Given the description of an element on the screen output the (x, y) to click on. 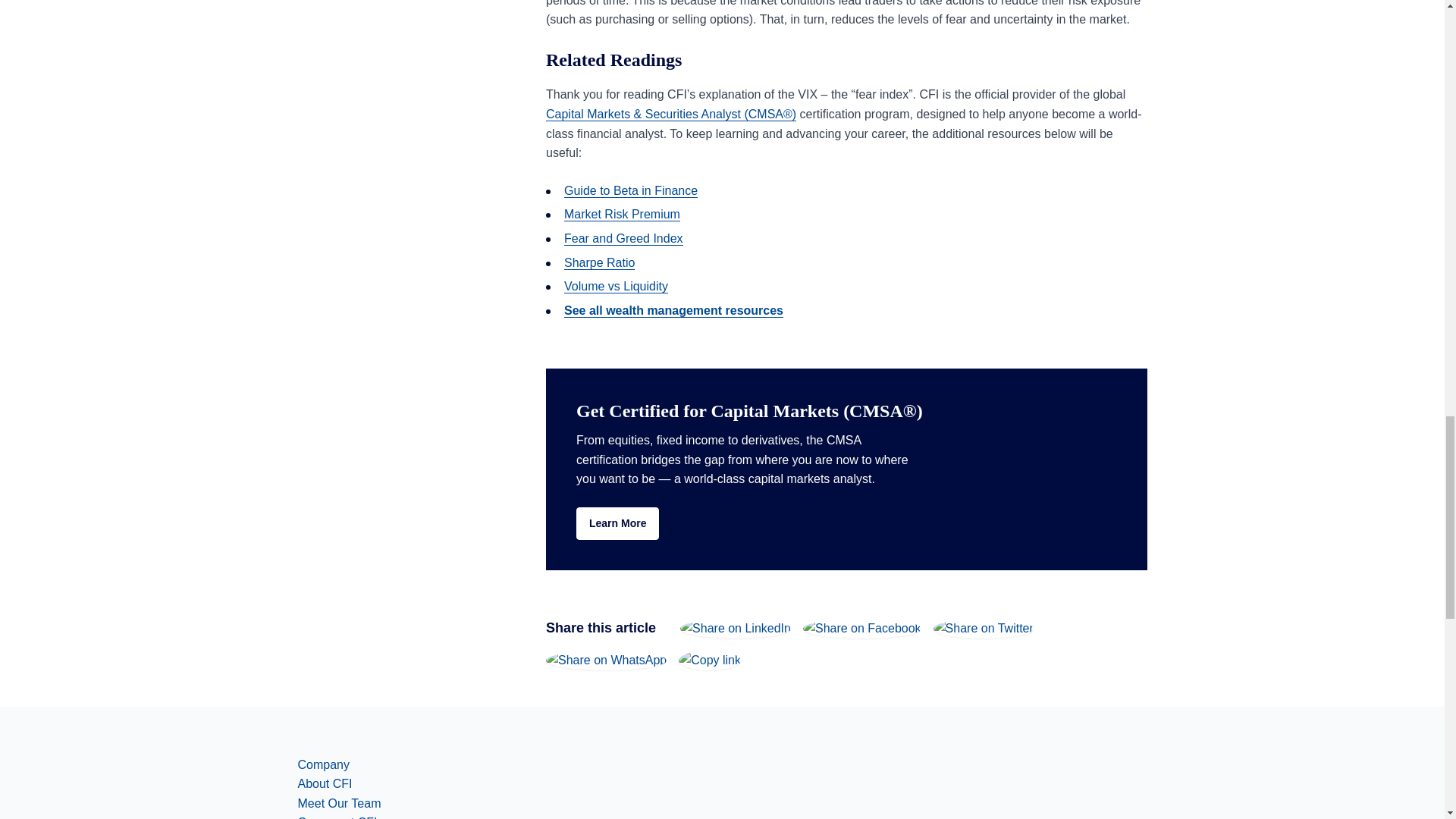
Share on Twitter (983, 627)
Copy link (709, 659)
Share on LinkedIn (734, 627)
Share on Facebook (862, 627)
Share on WhatsApp (606, 659)
